Given the description of an element on the screen output the (x, y) to click on. 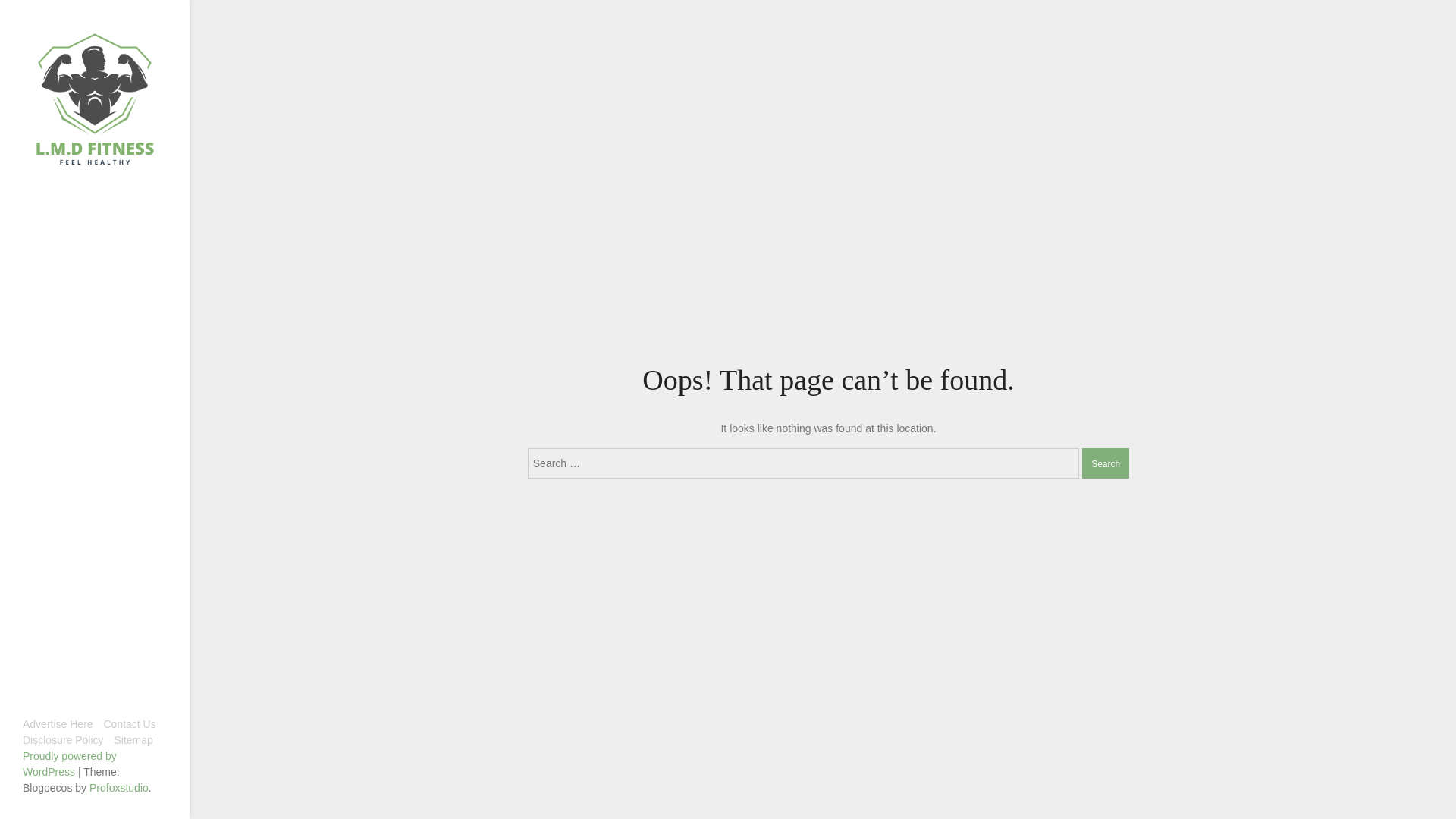
Search (1105, 462)
Proudly powered by WordPress (69, 764)
L.M.D FITNESS (61, 183)
Search (1105, 462)
Disclosure Policy (63, 740)
Search (1105, 462)
Advertise Here (58, 724)
Contact Us (129, 724)
Sitemap (132, 740)
Profoxstudio (118, 787)
